Given the description of an element on the screen output the (x, y) to click on. 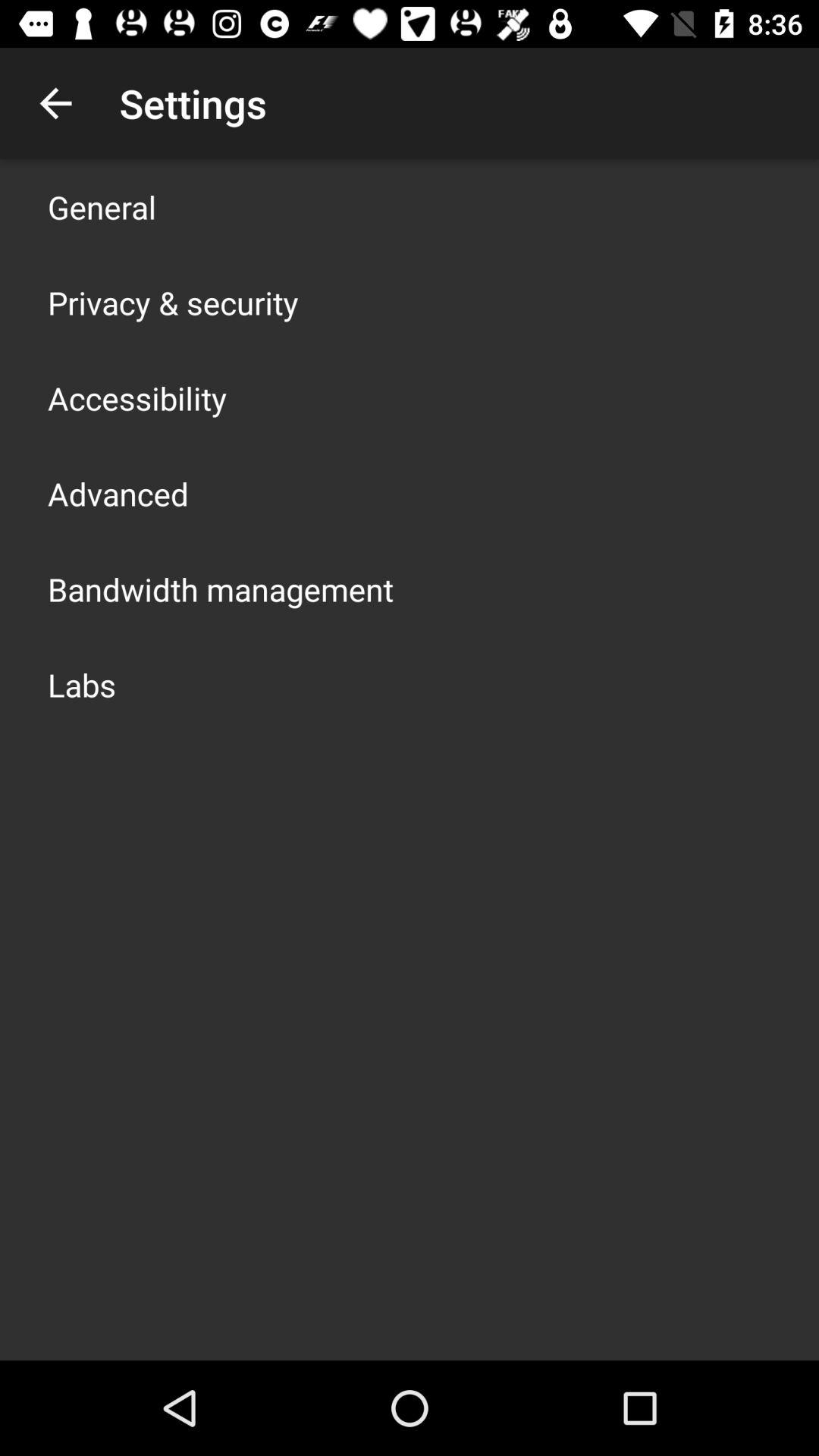
turn off privacy & security (172, 302)
